Given the description of an element on the screen output the (x, y) to click on. 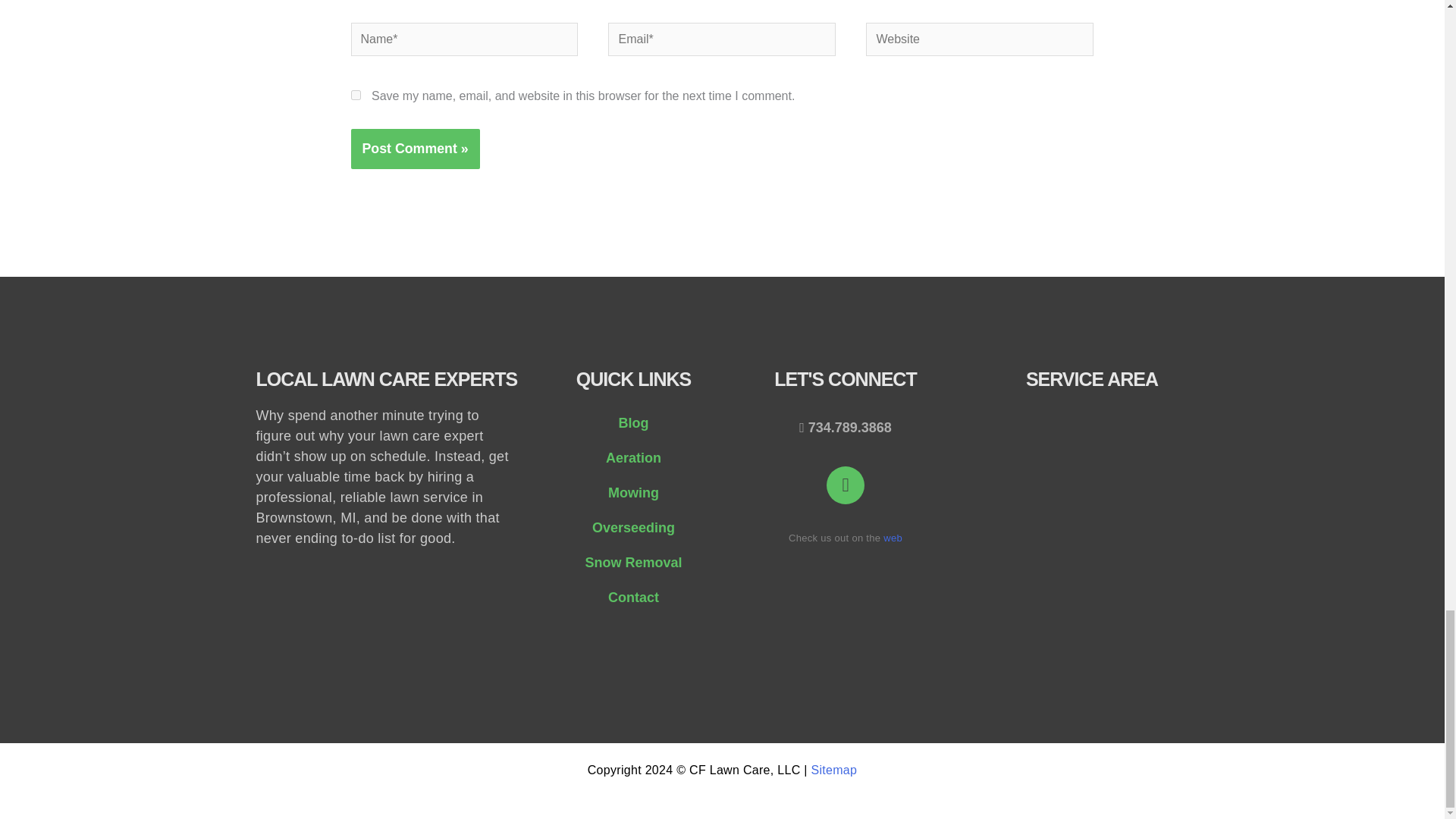
Snow Removal (632, 562)
Mowing (632, 492)
Aeration (632, 457)
yes (354, 94)
Overseeding (632, 527)
Blog (632, 422)
Contact (632, 597)
